Given the description of an element on the screen output the (x, y) to click on. 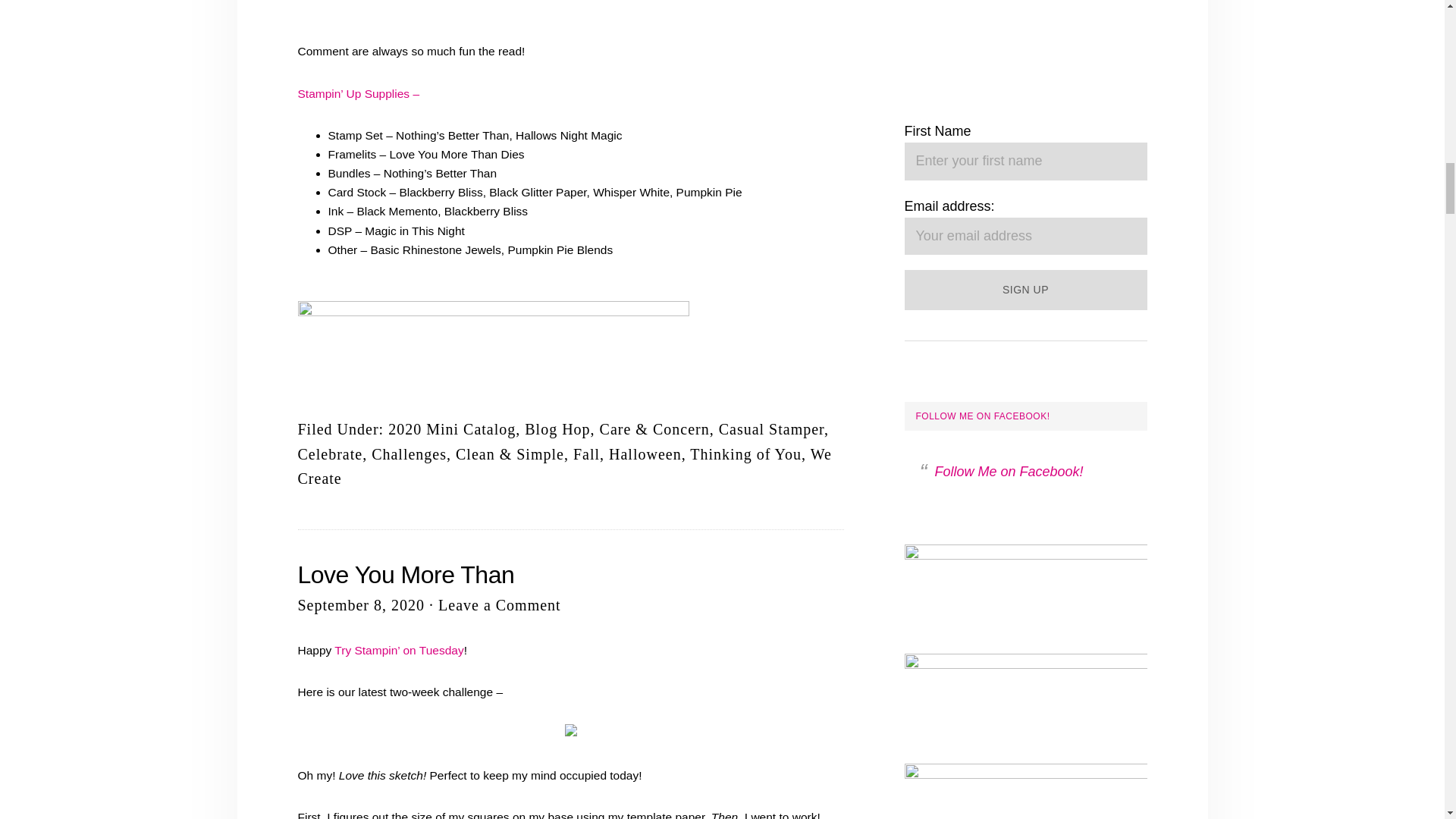
Fall (586, 453)
Thinking of You (746, 453)
Sign up (1025, 290)
Blog Hop (556, 428)
Halloween (644, 453)
Celebrate (329, 453)
We Create (564, 466)
Casual Stamper (771, 428)
2020 Mini Catalog (451, 428)
Challenges (408, 453)
